Given the description of an element on the screen output the (x, y) to click on. 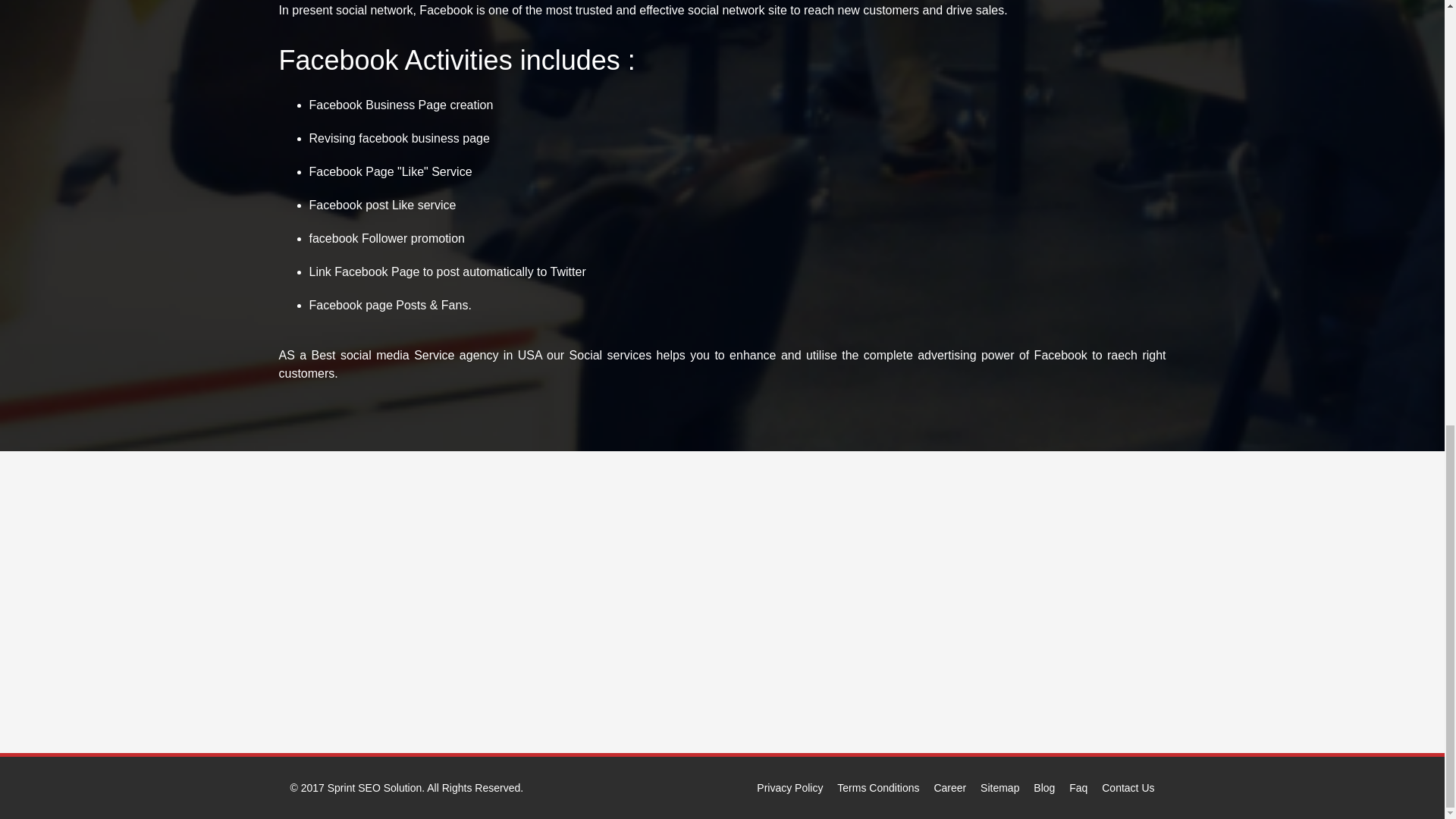
Sprint SEO Solution  (374, 787)
